Given the description of an element on the screen output the (x, y) to click on. 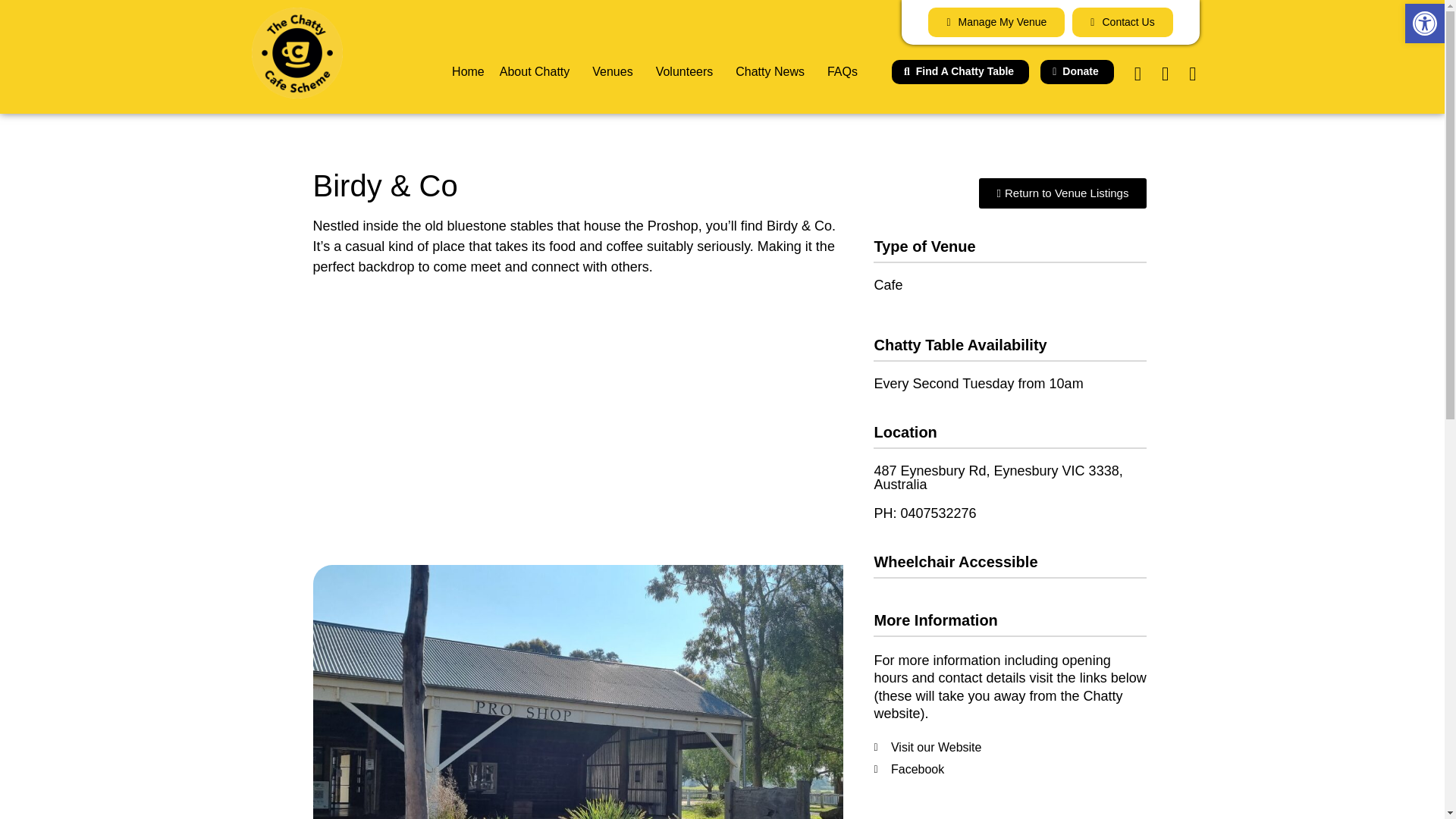
Contact Us (1121, 21)
About Chatty (538, 71)
Chatty News (773, 71)
Manage My Venue (996, 21)
487 Eynesbury Rd, Eynesbury VIC 3338, Australia (578, 416)
Home (468, 71)
Accessibility Tools (1424, 23)
Venues (616, 71)
Volunteers (688, 71)
